Given the description of an element on the screen output the (x, y) to click on. 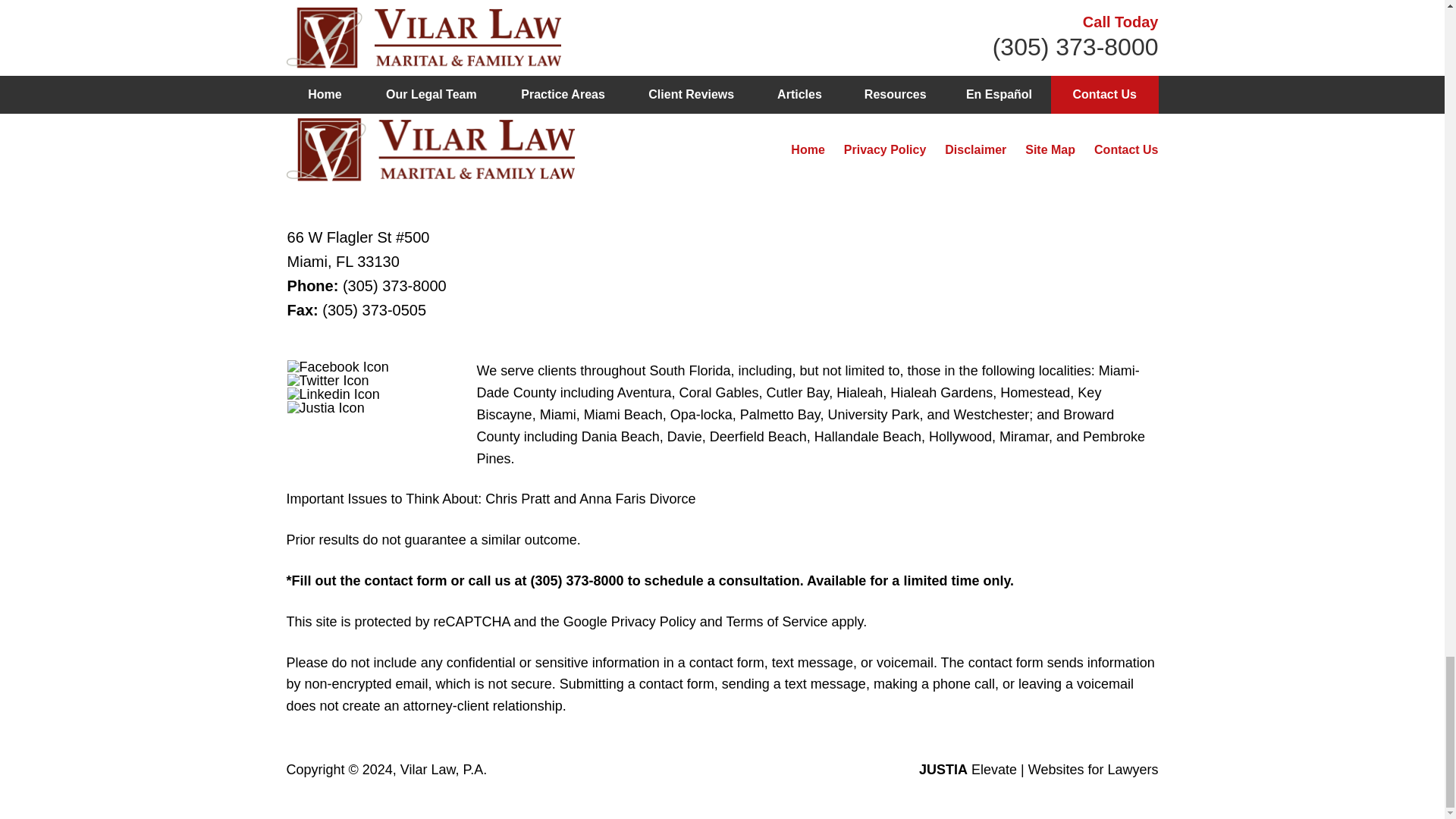
Facebook (337, 366)
Justia (325, 407)
Twitter (327, 380)
Linkedin (333, 394)
